Given the description of an element on the screen output the (x, y) to click on. 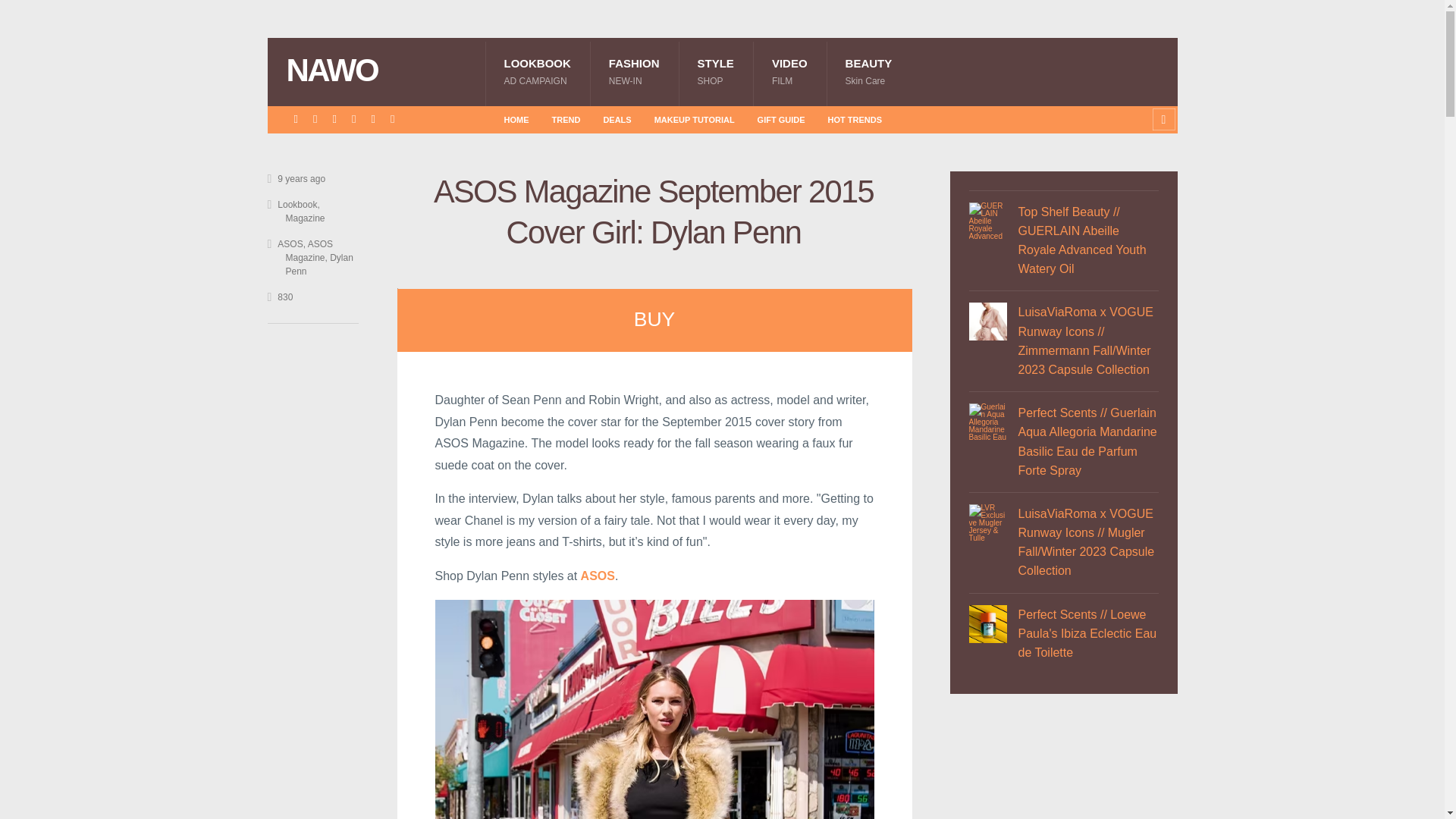
GIFT GUIDE (780, 119)
ASOS Magazine September 2015 Cover Girl: Dylan Penn (597, 575)
DEALS (633, 71)
ASOS (616, 119)
HOT TRENDS (597, 575)
MAKEUP TUTORIAL (854, 119)
NAWO (789, 71)
HOME (694, 119)
TREND (869, 71)
BUY (377, 70)
